Given the description of an element on the screen output the (x, y) to click on. 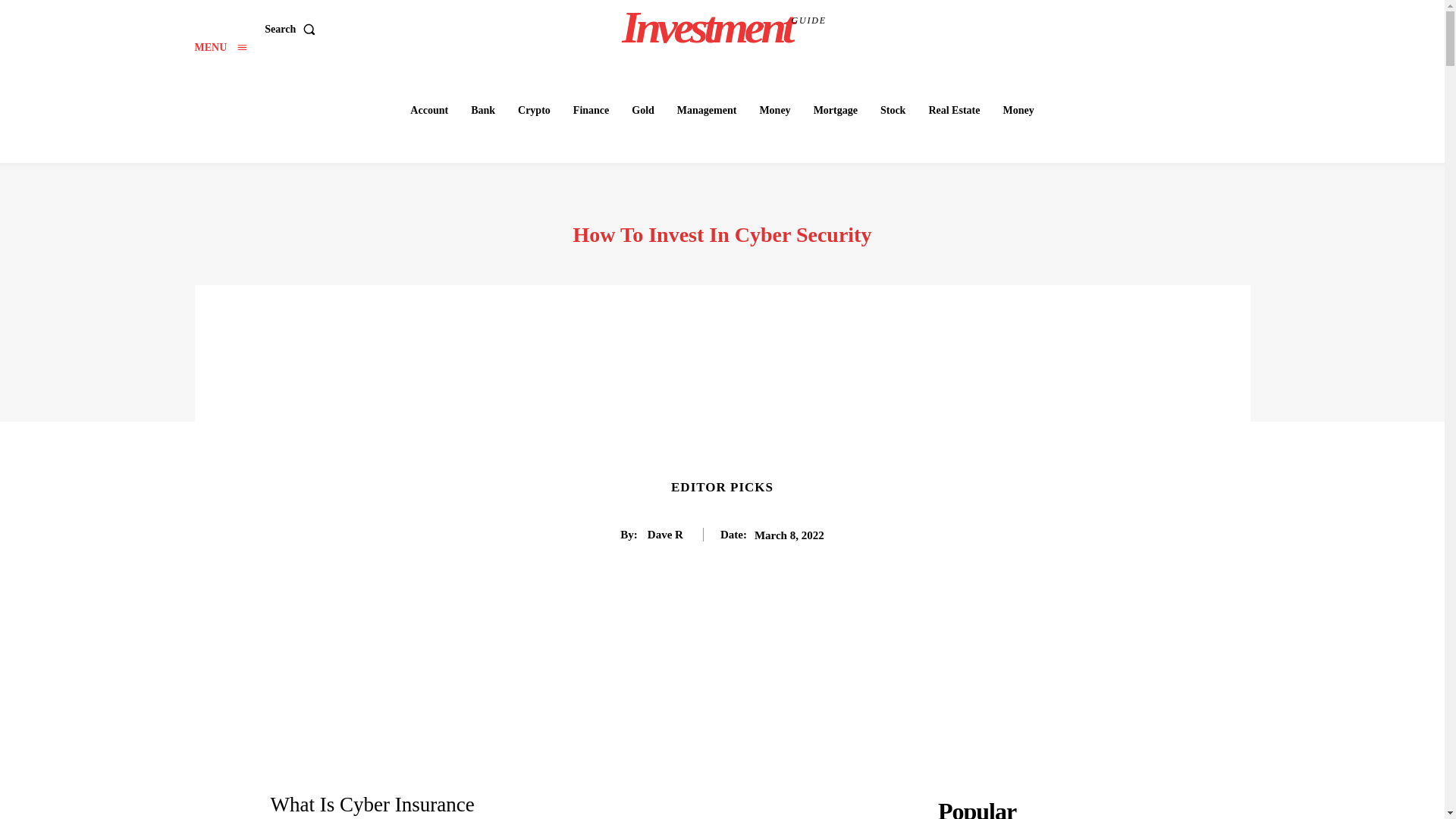
Mortgage (835, 110)
Crypto (534, 110)
Bank (482, 110)
Finance (724, 27)
Account (590, 110)
Gold (429, 110)
MENU (643, 110)
Management (220, 47)
Search (706, 110)
